Given the description of an element on the screen output the (x, y) to click on. 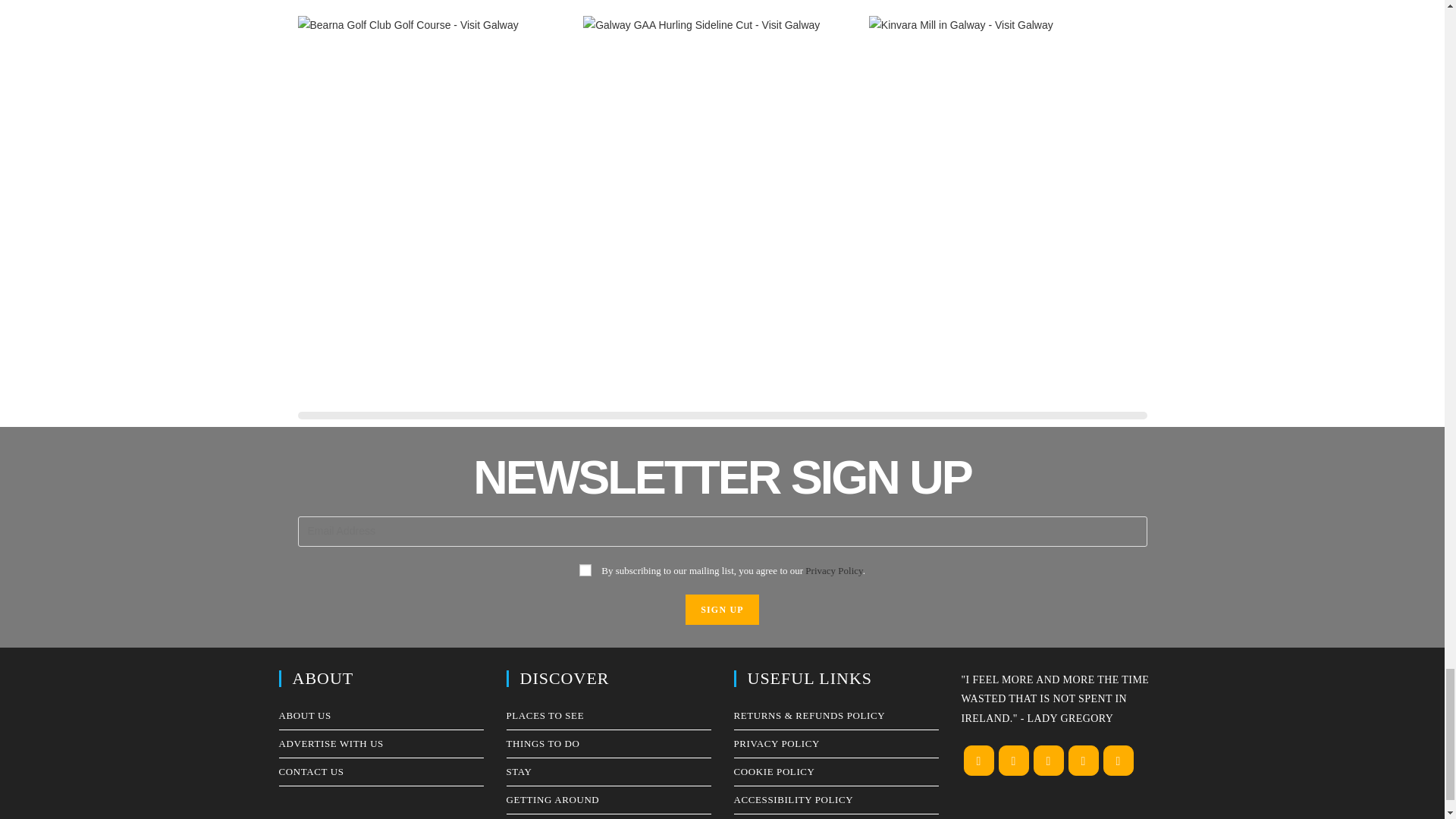
SIGN UP (721, 609)
1 (585, 570)
